Given the description of an element on the screen output the (x, y) to click on. 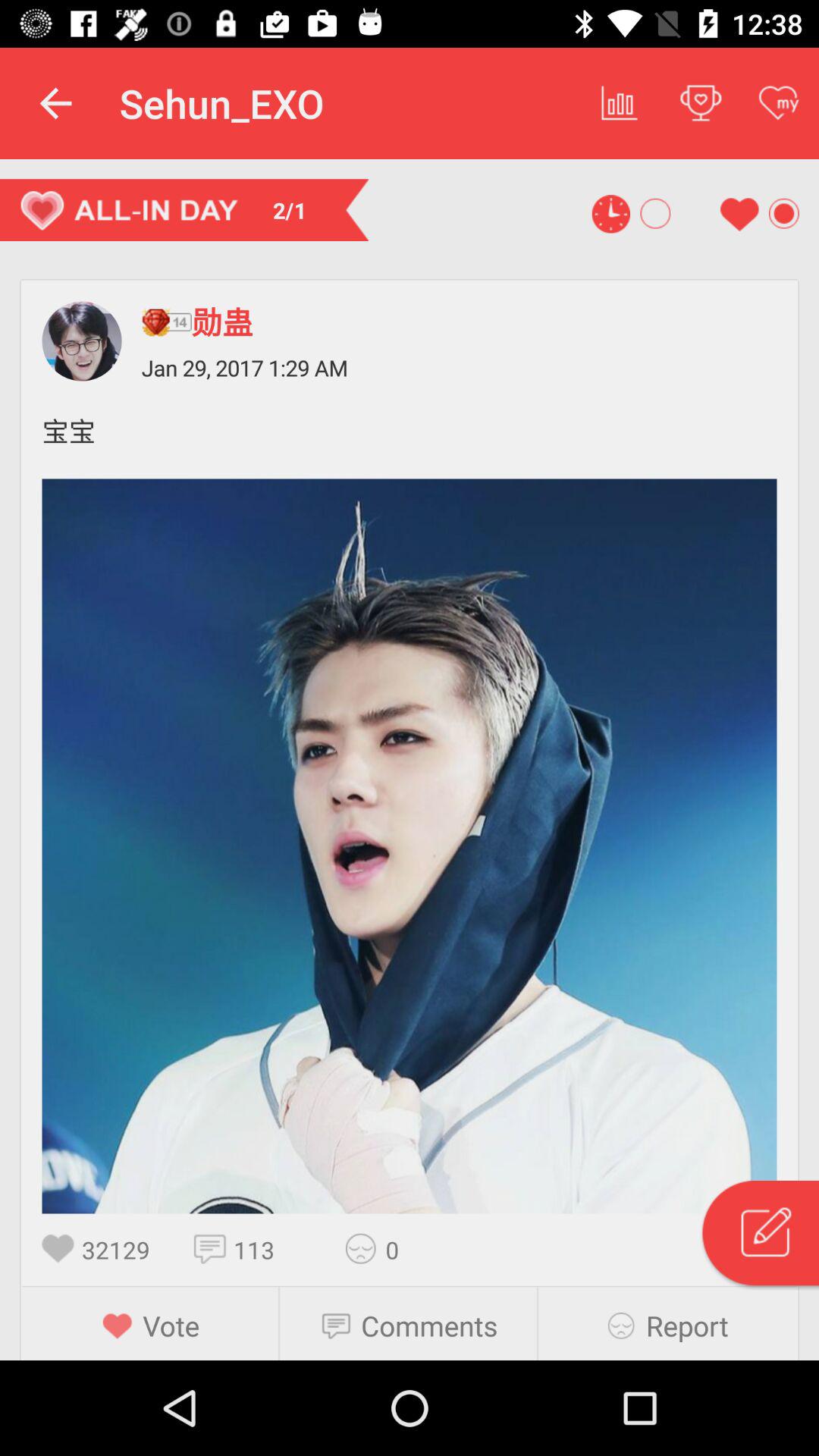
shows search icon (759, 1235)
